Given the description of an element on the screen output the (x, y) to click on. 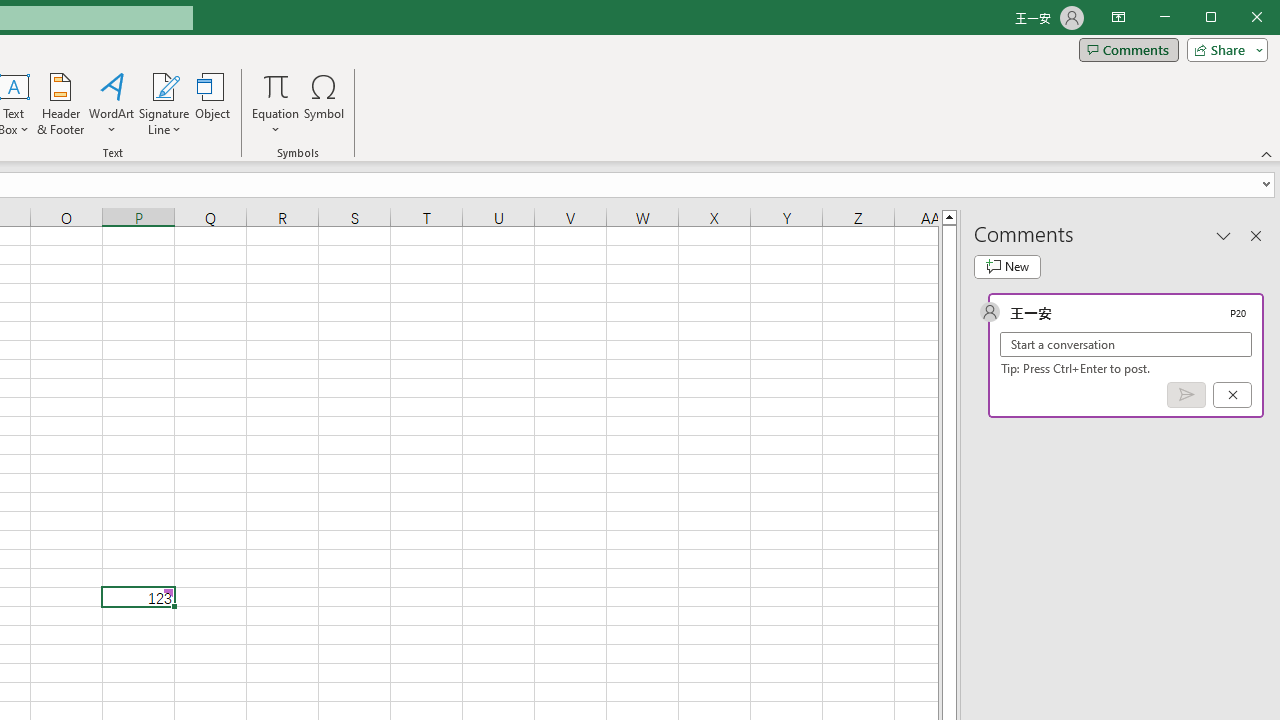
Maximize (1239, 18)
Line up (948, 216)
Equation (275, 86)
Cancel (1232, 395)
Task Pane Options (1224, 235)
Minimize (1217, 18)
Symbol... (324, 104)
Object... (213, 104)
Post comment (Ctrl + Enter) (1186, 395)
